Given the description of an element on the screen output the (x, y) to click on. 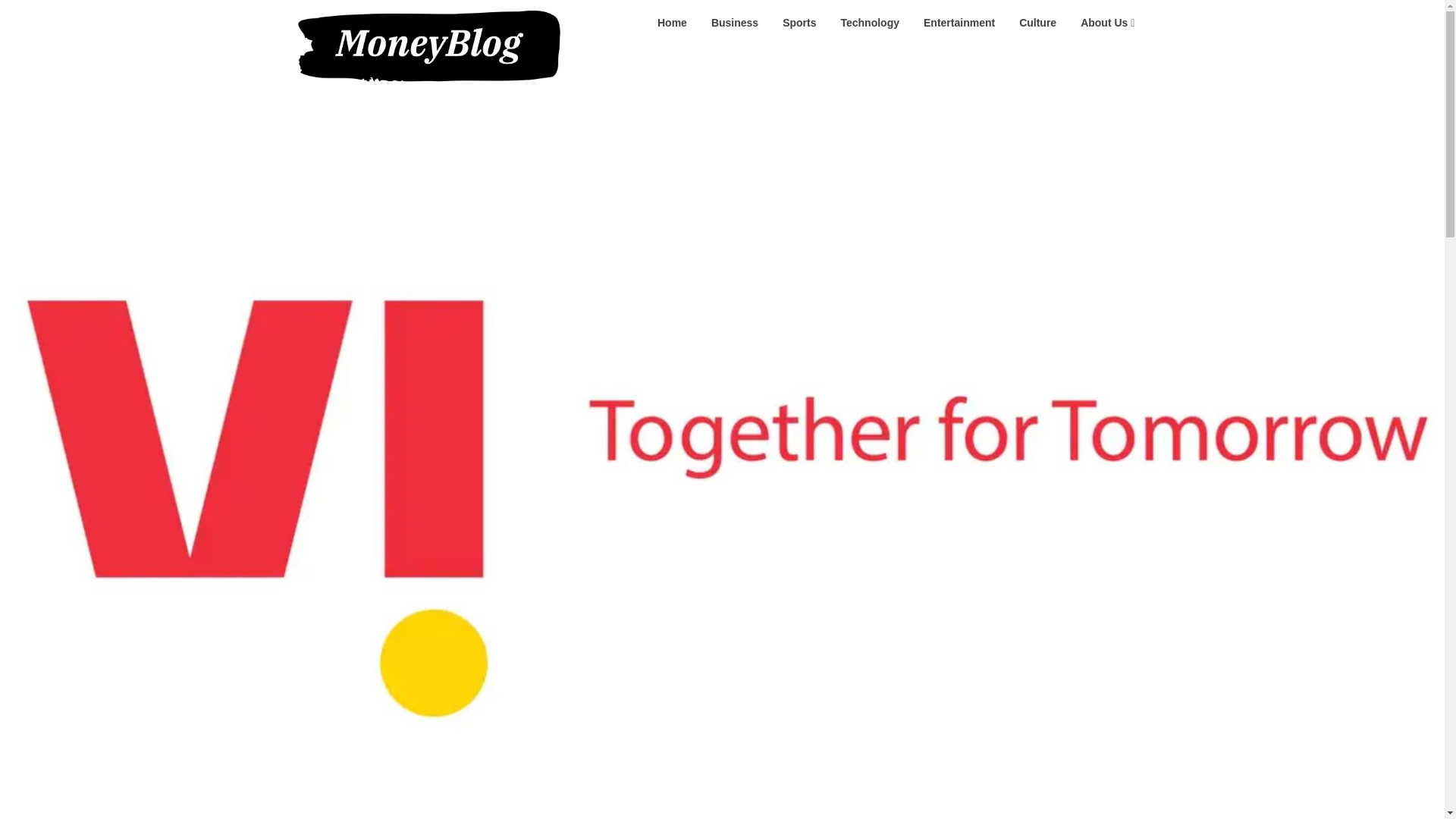
Business (734, 22)
Technology (869, 22)
Home (671, 22)
Entertainment (959, 22)
Sports (799, 22)
Culture (1037, 22)
rafflesplace.my.id (638, 21)
About Us (1107, 22)
